Given the description of an element on the screen output the (x, y) to click on. 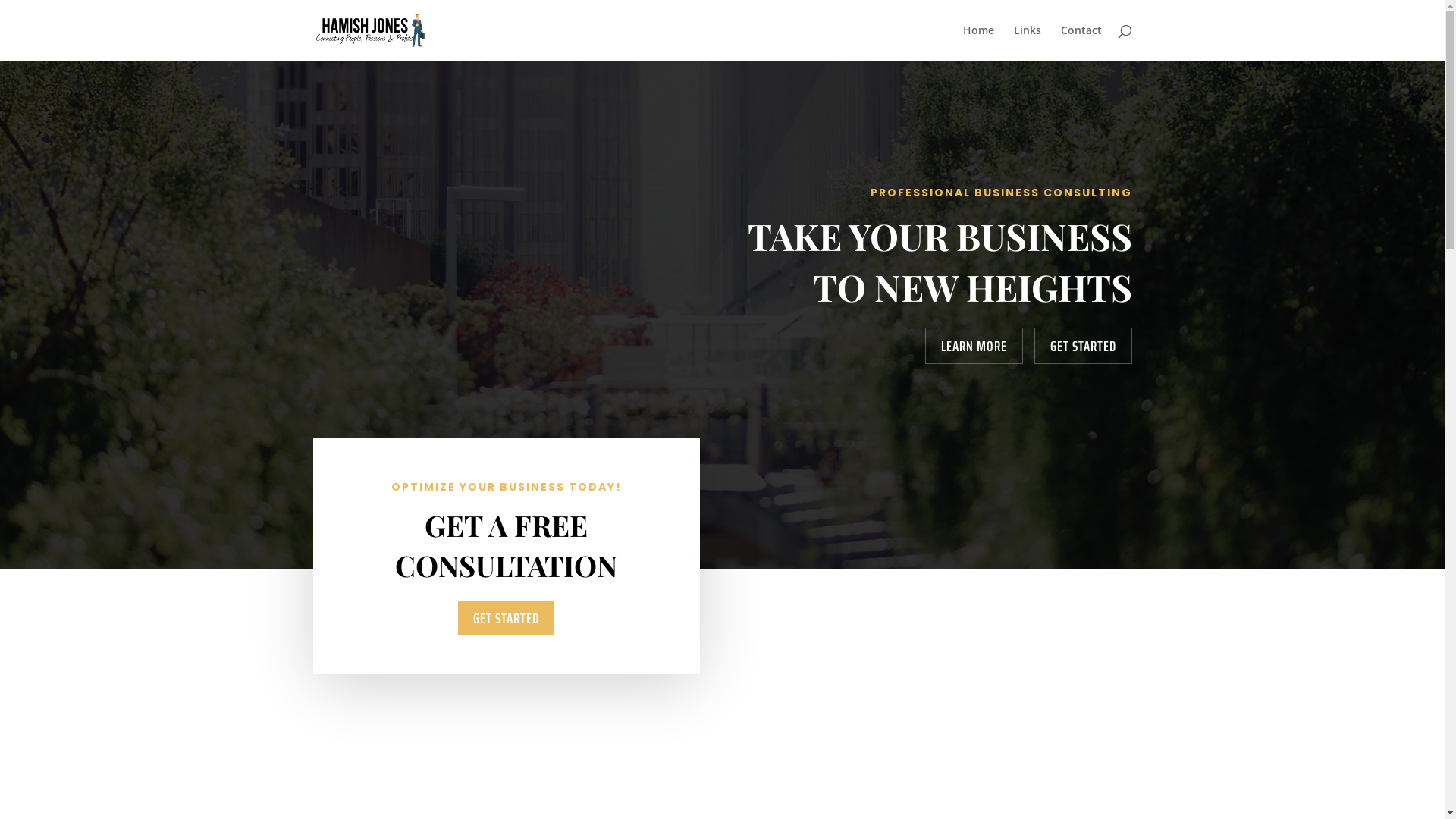
LEARN MORE Element type: text (973, 345)
Home Element type: text (978, 42)
GET STARTED Element type: text (506, 617)
Contact Element type: text (1080, 42)
GET STARTED Element type: text (1083, 345)
Links Element type: text (1026, 42)
